Given the description of an element on the screen output the (x, y) to click on. 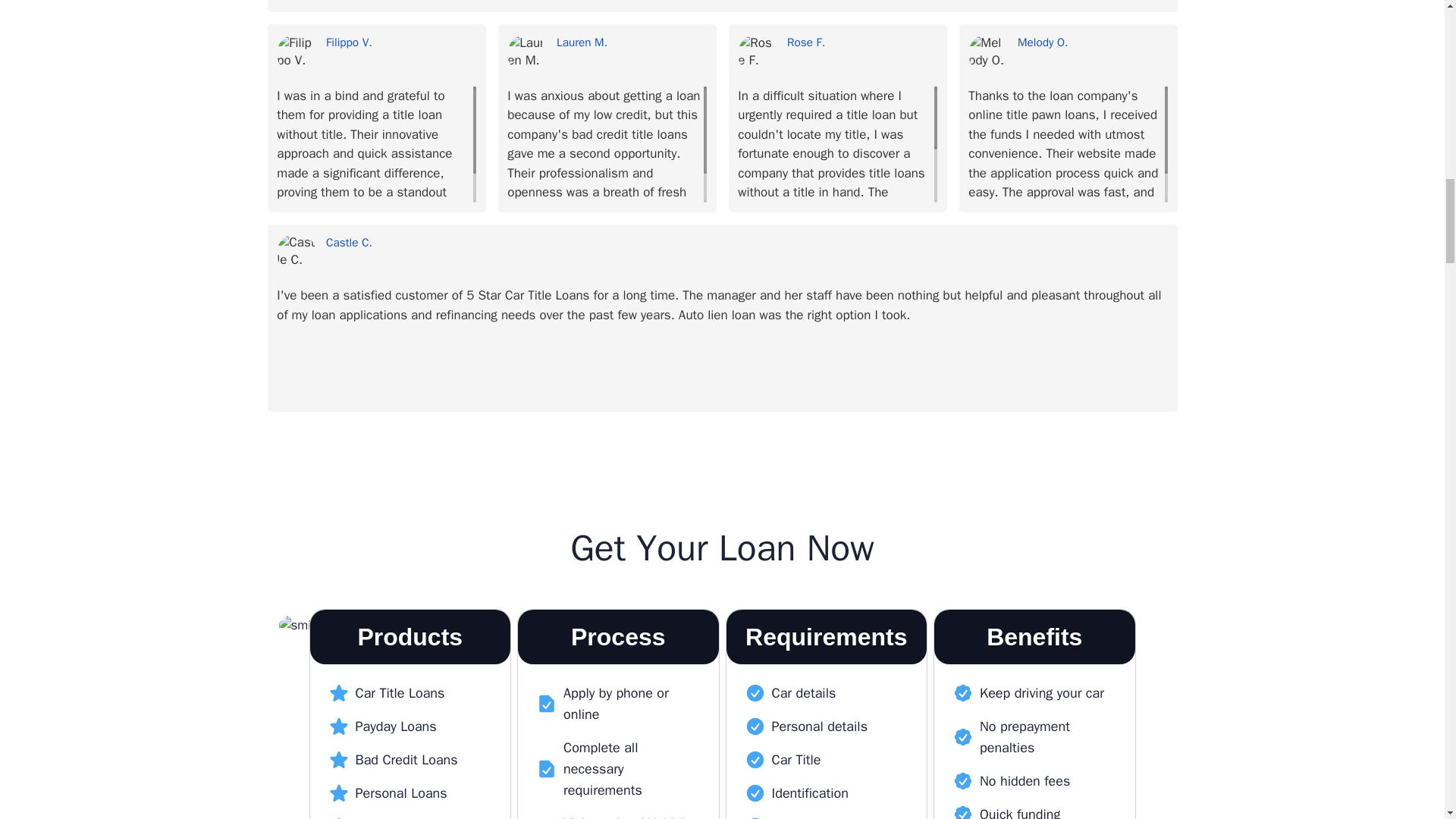
Castle C. (295, 252)
Melody O. (1092, 42)
Rose F. (757, 53)
Rose F. (862, 42)
Lauren M. (631, 42)
Melody O. (987, 53)
Lauren M. (526, 53)
